Given the description of an element on the screen output the (x, y) to click on. 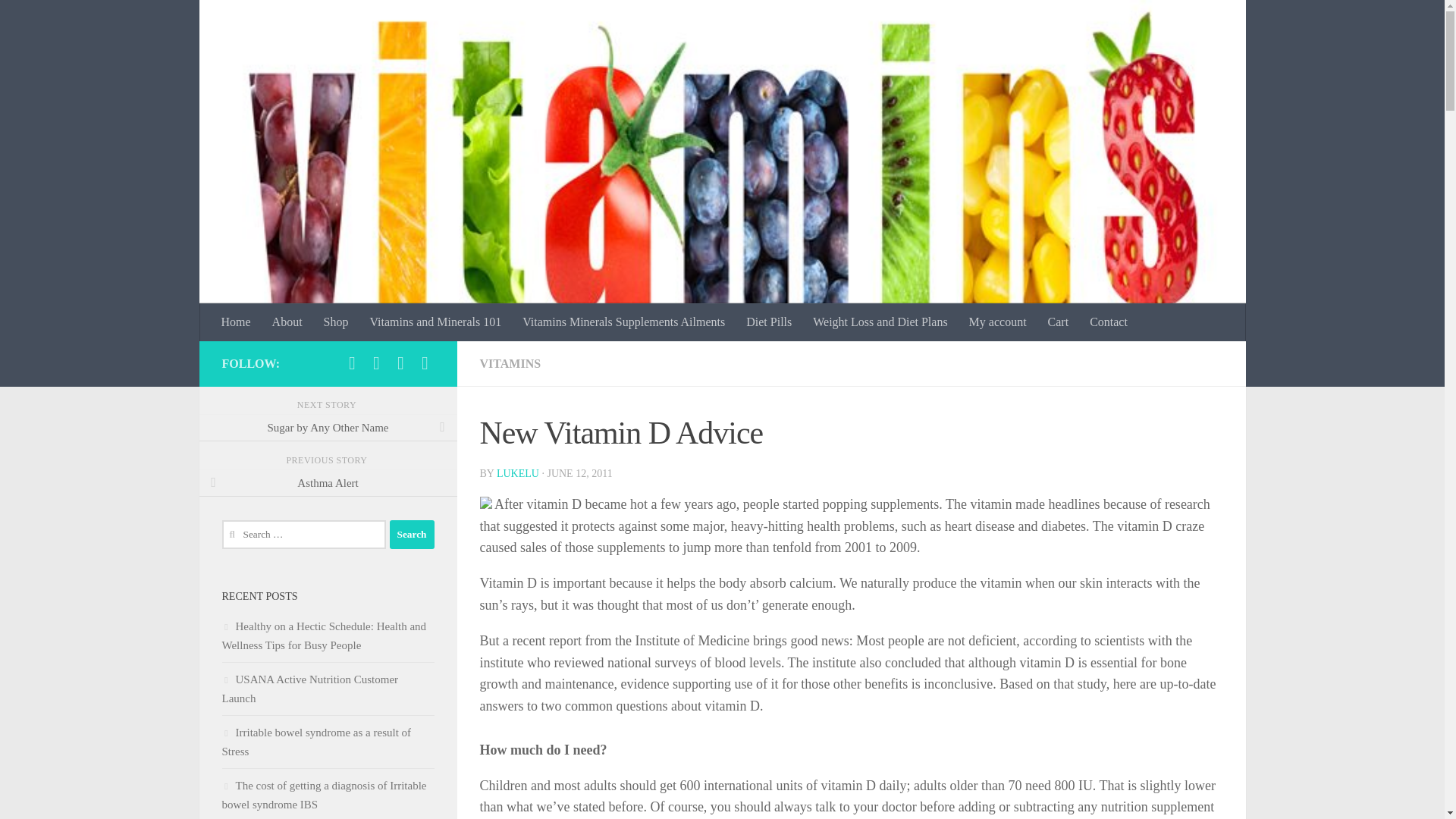
Cart (1058, 322)
Home (236, 322)
Contact (1108, 322)
About (287, 322)
Posts by lukelu (517, 473)
Asthma Alert (327, 482)
LUKELU (517, 473)
VITAMINS (509, 363)
My account (997, 322)
Follow us on Facebook (351, 362)
